Given the description of an element on the screen output the (x, y) to click on. 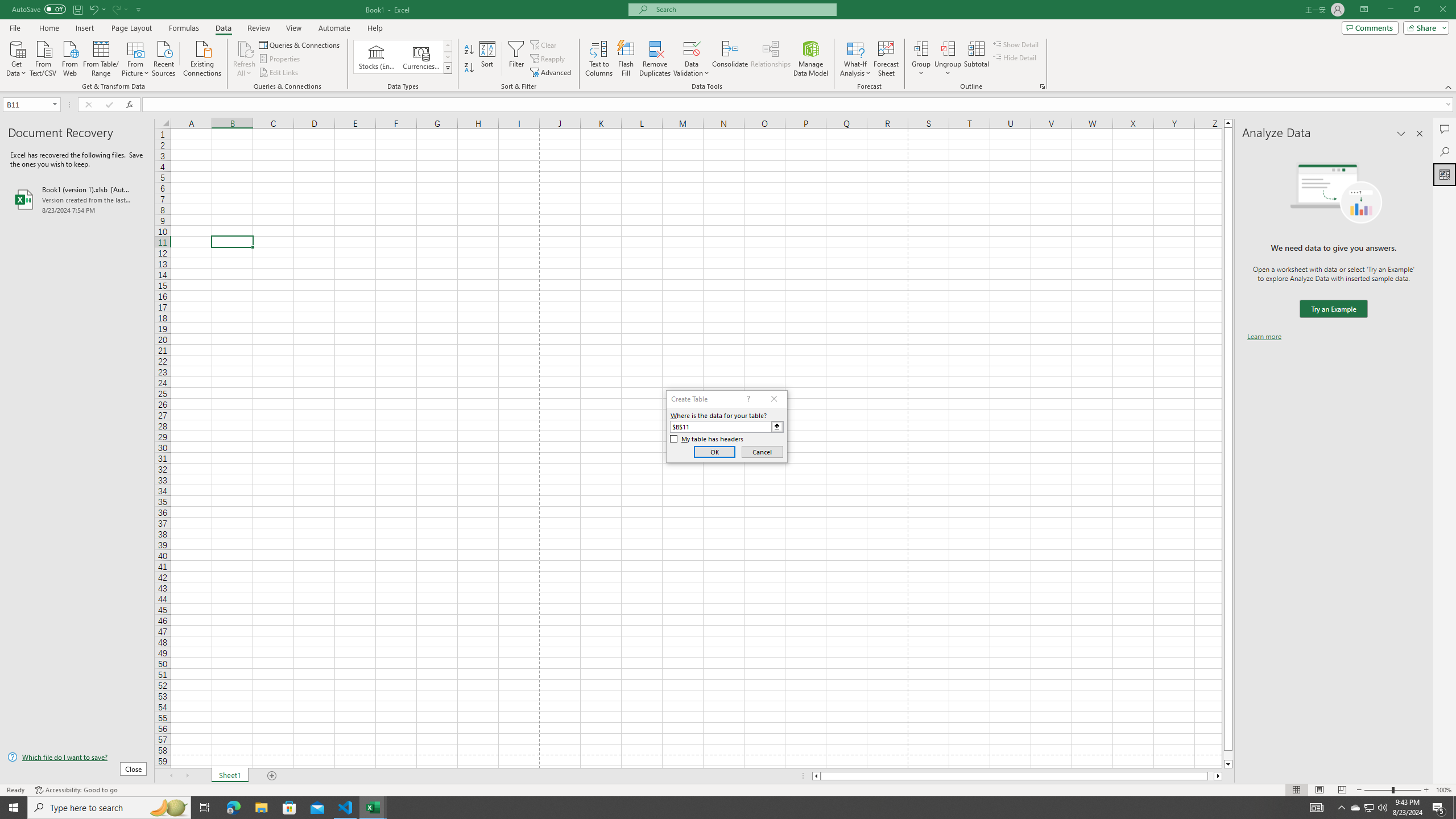
Sort A to Z (469, 49)
Get Data (16, 57)
Filter (515, 58)
Show Detail (1016, 44)
Learn more (1264, 336)
Stocks (English) (375, 56)
